Given the description of an element on the screen output the (x, y) to click on. 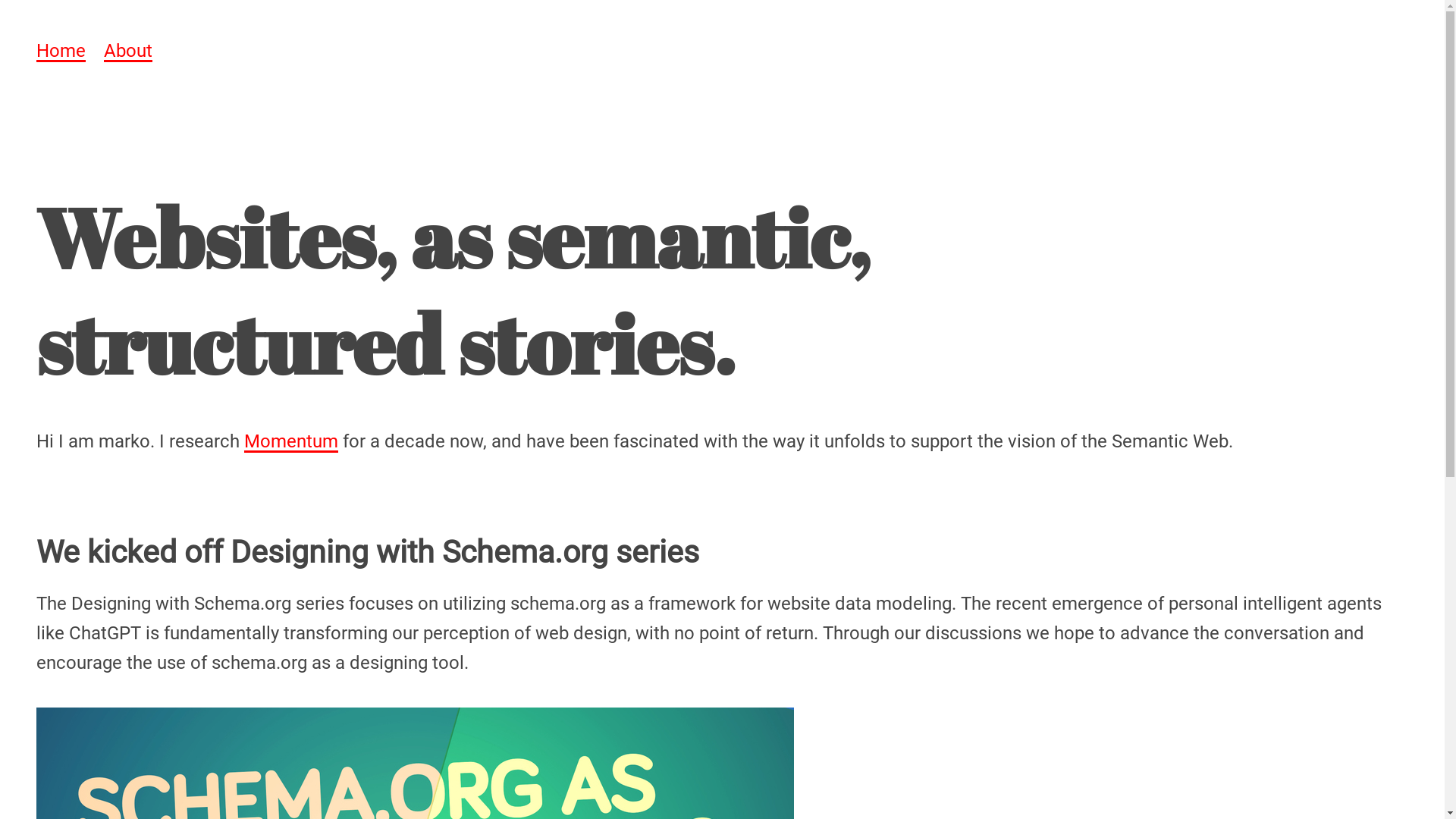
Momentum Element type: text (291, 441)
Home Element type: text (60, 51)
About Element type: text (127, 51)
